Given the description of an element on the screen output the (x, y) to click on. 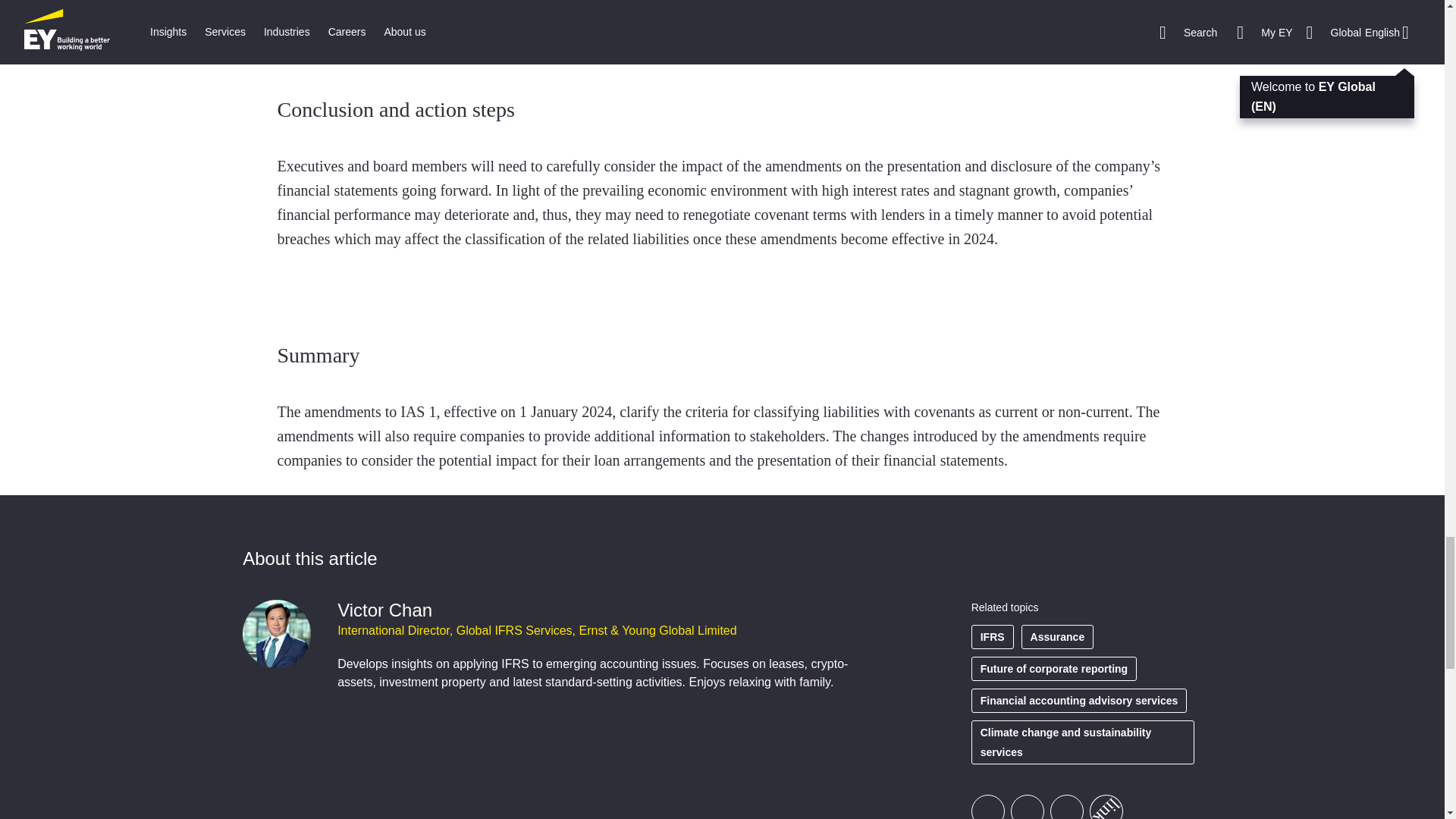
Facebook (987, 806)
Copy (1099, 803)
Twitter (1026, 806)
LinkedIn (1066, 806)
